Given the description of an element on the screen output the (x, y) to click on. 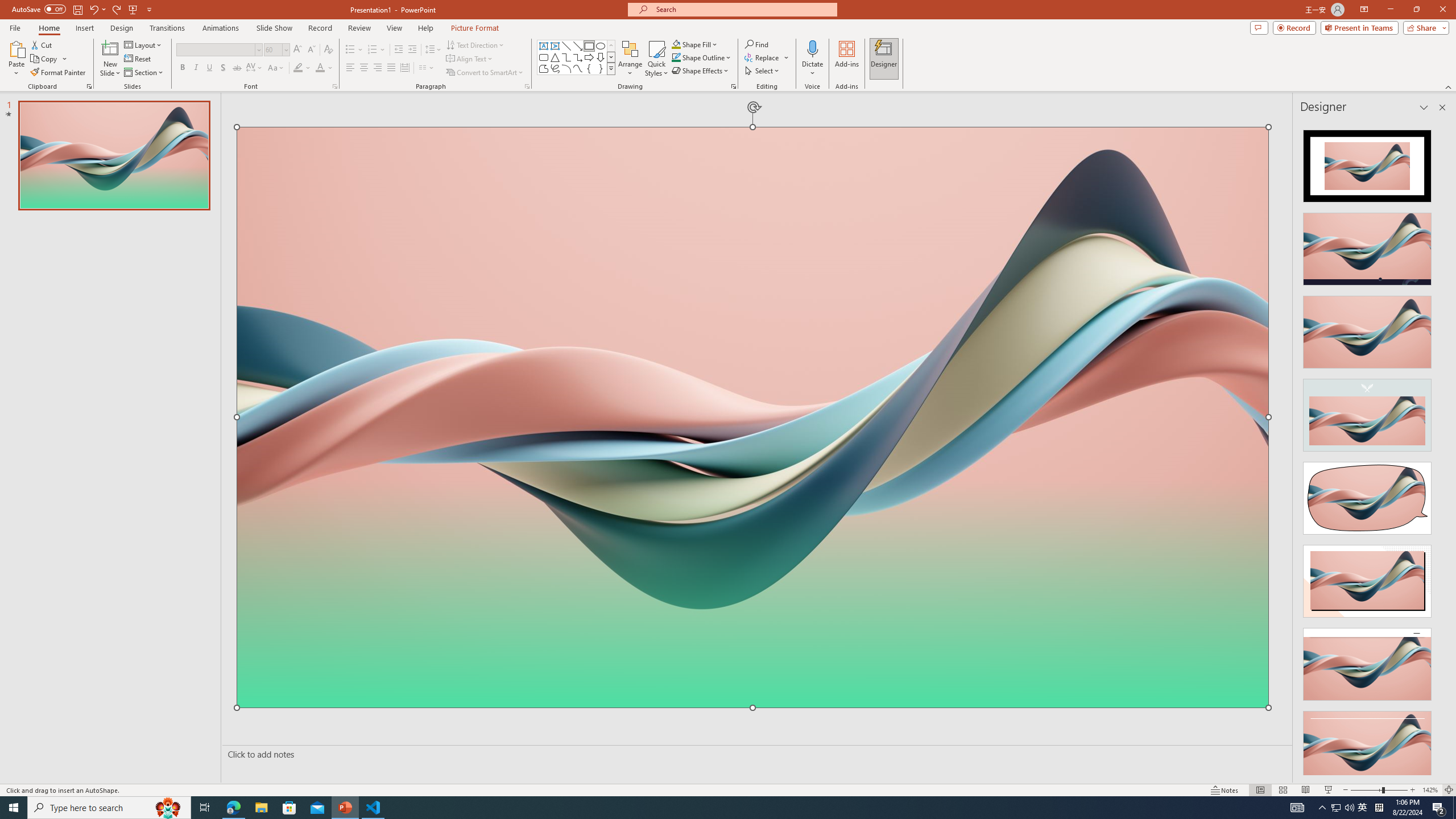
Picture Format (475, 28)
